Given the description of an element on the screen output the (x, y) to click on. 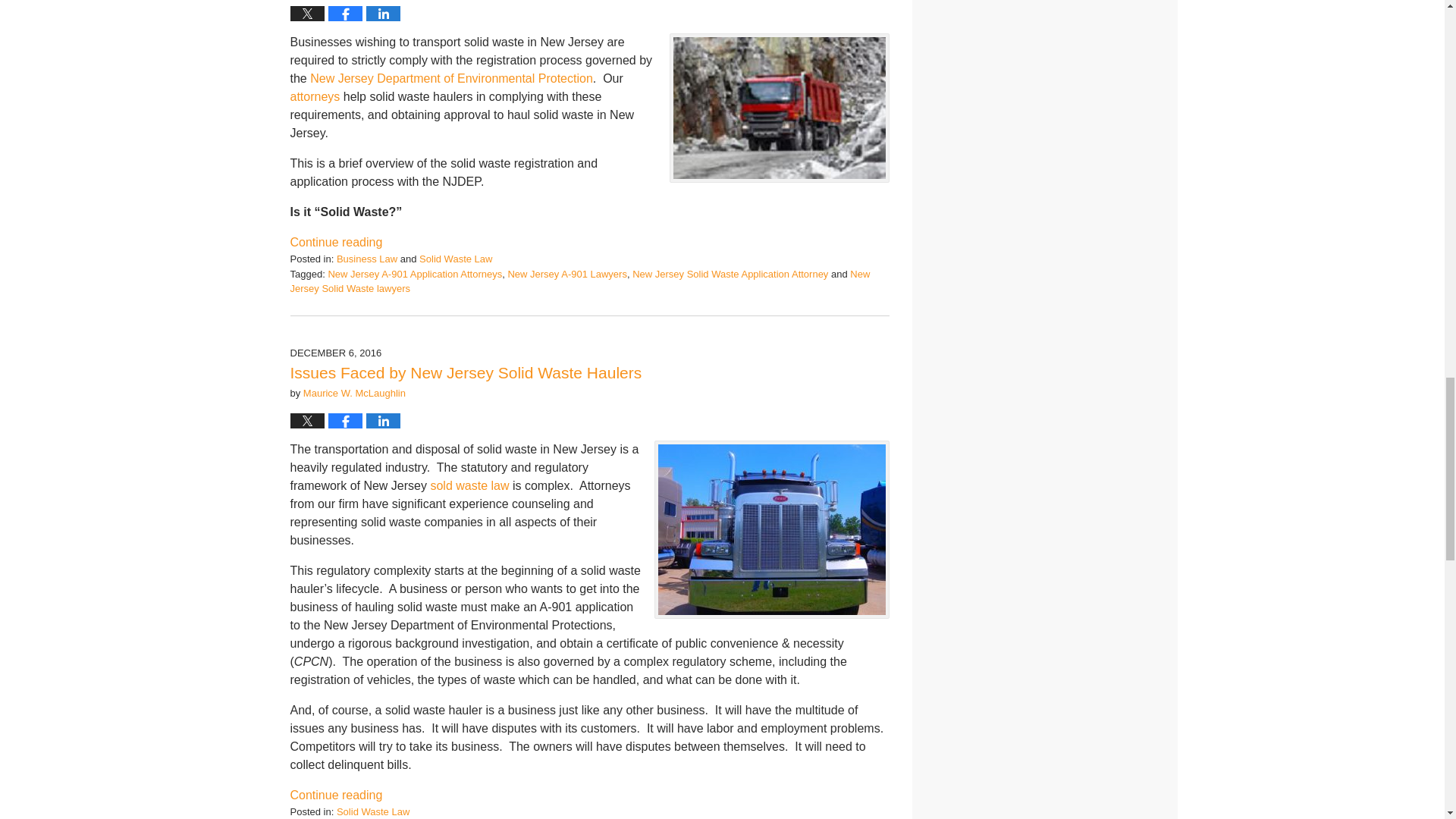
View all posts in Business Law (366, 258)
View all posts in Solid Waste Law (455, 258)
Continue Reading Solid Waste Registration (335, 241)
